Given the description of an element on the screen output the (x, y) to click on. 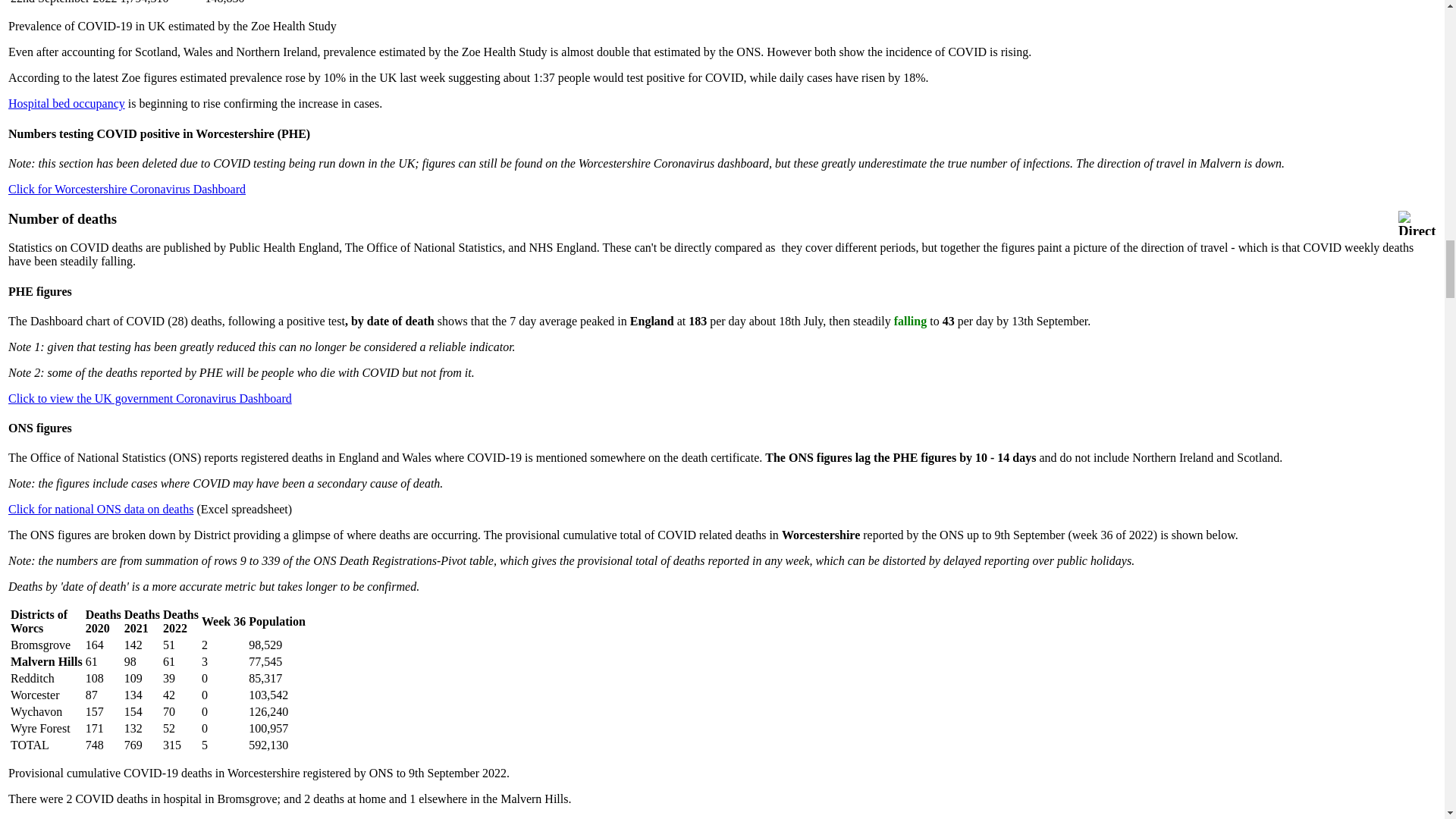
Hospital bed occupancy (66, 103)
